Given the description of an element on the screen output the (x, y) to click on. 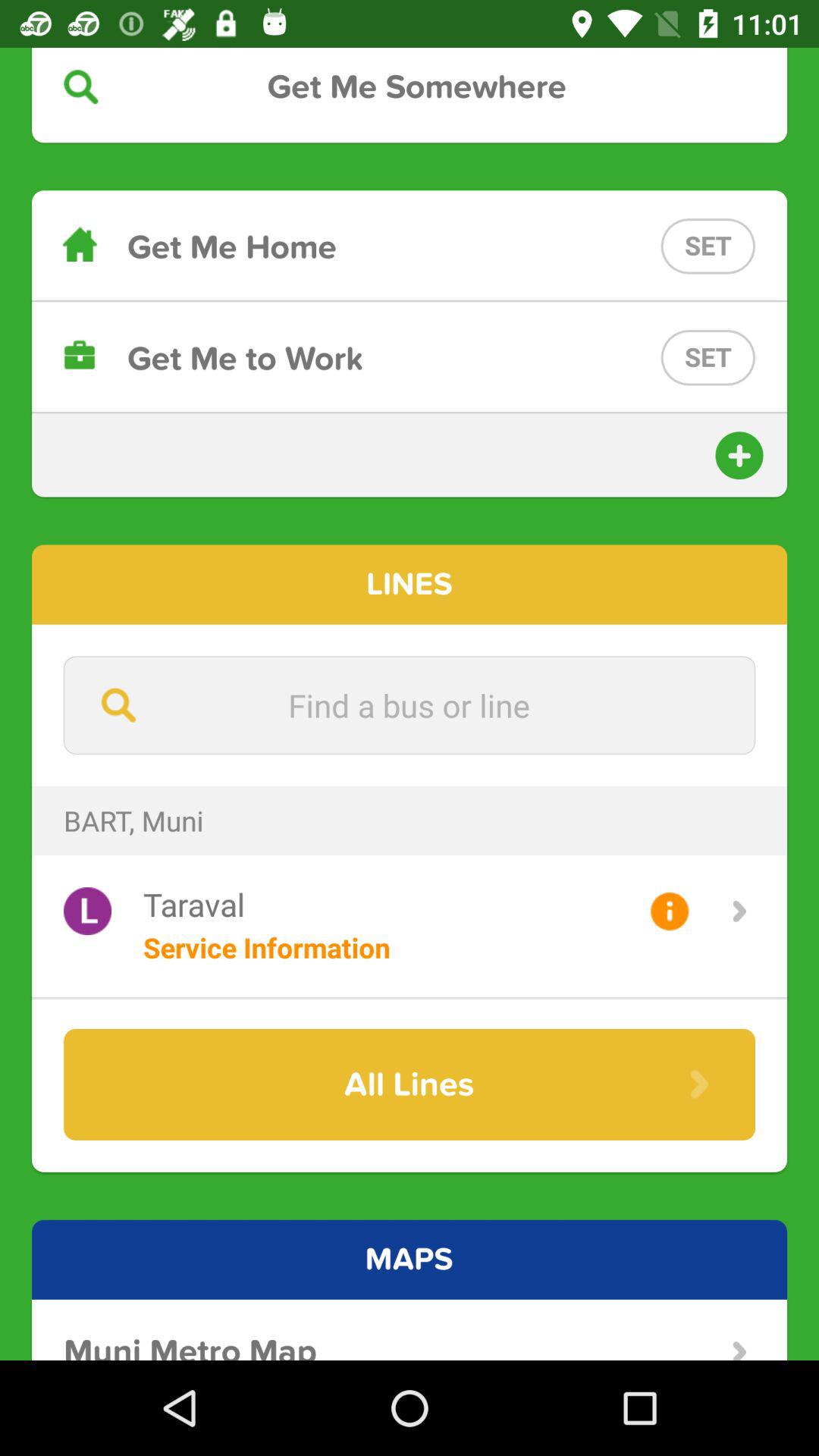
click on the right arrow icon right to taraval service information (739, 910)
click on the right arrow icon at the right corner bottom of the page (739, 1349)
select the text below get me home (409, 357)
select the text above get me home (409, 86)
click on the home text field at the top of the page (409, 245)
click on the add symbol at the right side of the page (739, 455)
